Given the description of an element on the screen output the (x, y) to click on. 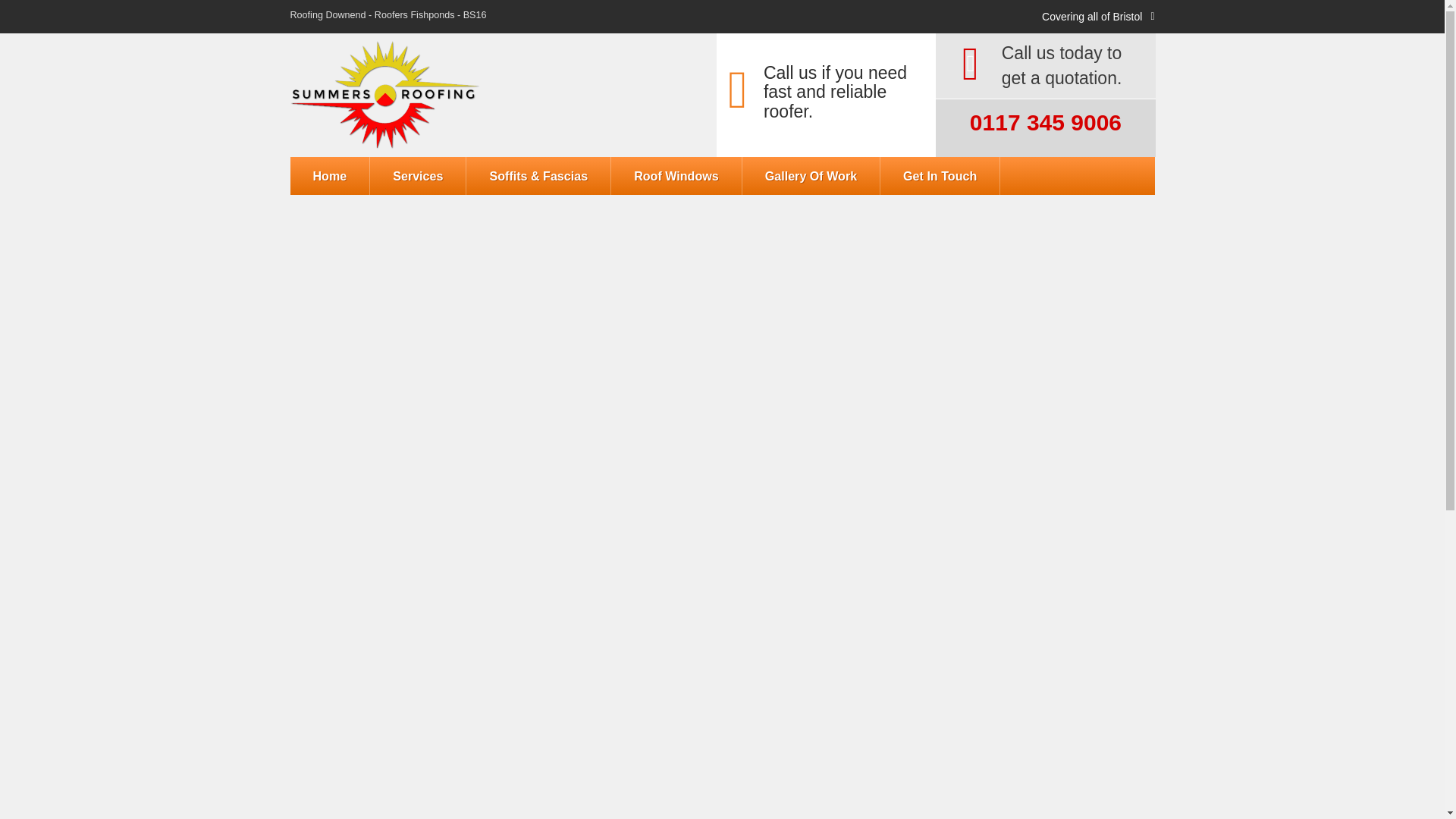
Covering all of Bristol (1091, 16)
Services (417, 175)
Roof Windows (676, 175)
Get In Touch (939, 175)
Place callback request (1046, 380)
0117 345 9006 (1058, 123)
Gallery Of Work (810, 175)
Home (329, 175)
